Given the description of an element on the screen output the (x, y) to click on. 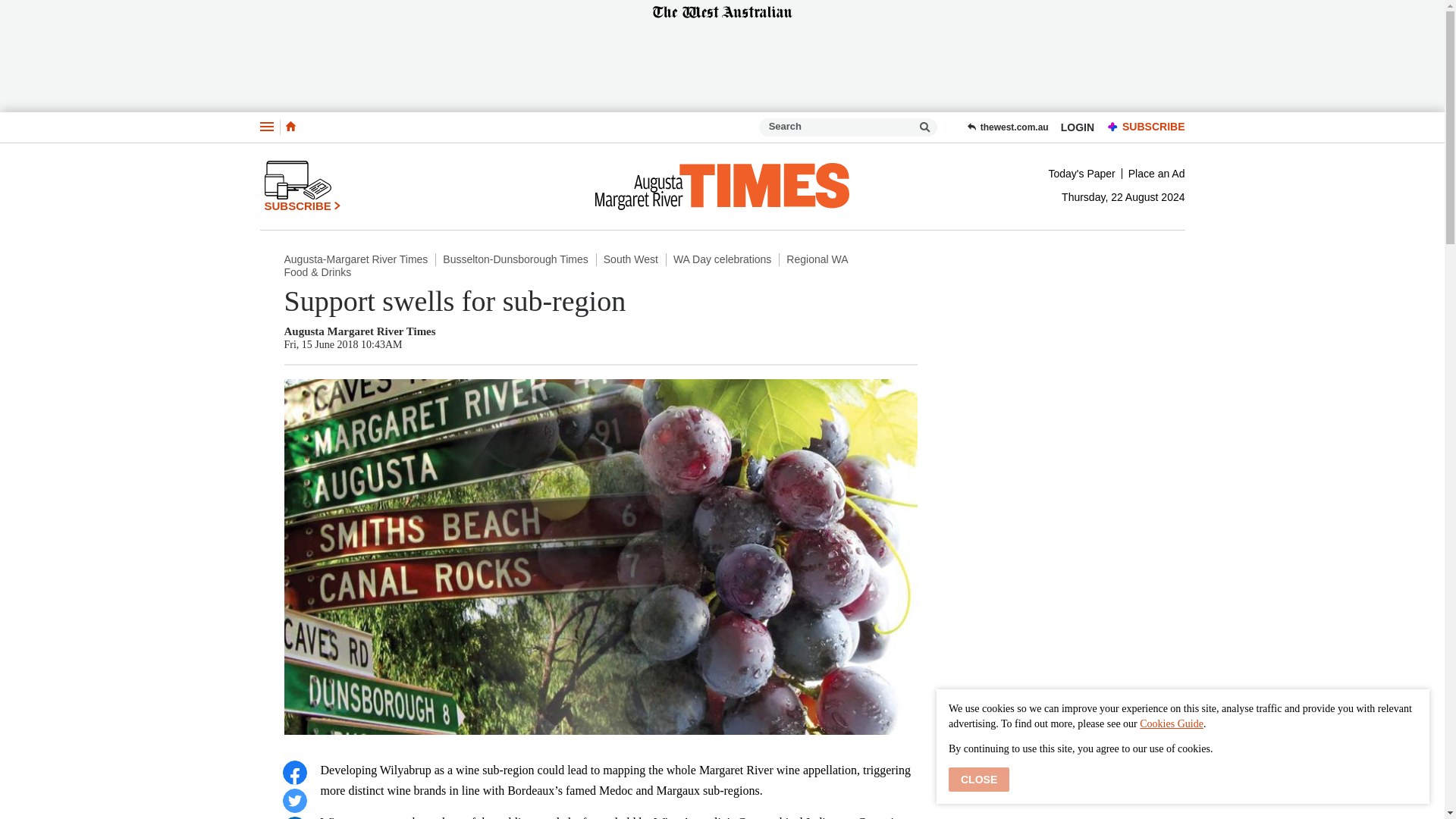
Home (290, 126)
Please enter a search term. (924, 127)
LOGIN (1077, 127)
PREMIUM (1112, 126)
SUBSCRIBE CHEVRON RIGHT ICON (302, 185)
PREMIUMSUBSCRIBE (1142, 127)
thewest.com.au (1007, 127)
Home (290, 126)
